Given the description of an element on the screen output the (x, y) to click on. 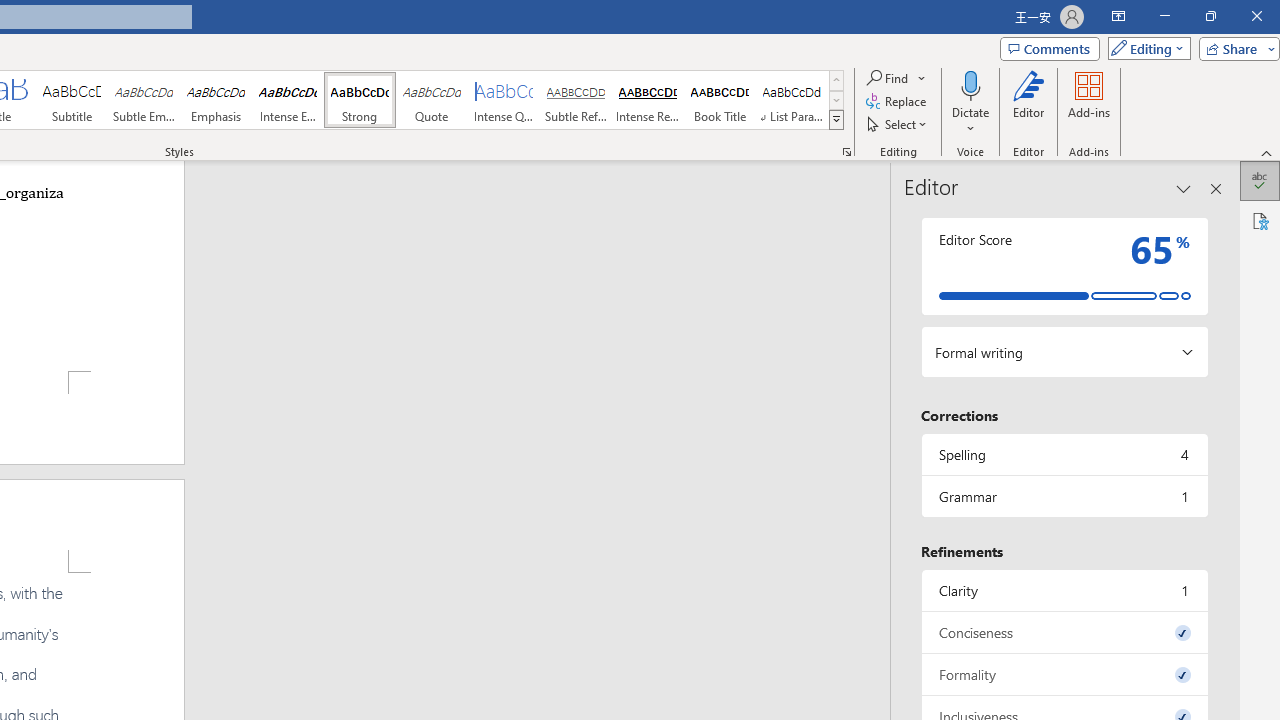
Conciseness, 0 issues. Press space or enter to review items. (1064, 632)
Intense Quote (504, 100)
Strong (359, 100)
Spelling, 4 issues. Press space or enter to review items. (1064, 454)
Intense Emphasis (287, 100)
